Given the description of an element on the screen output the (x, y) to click on. 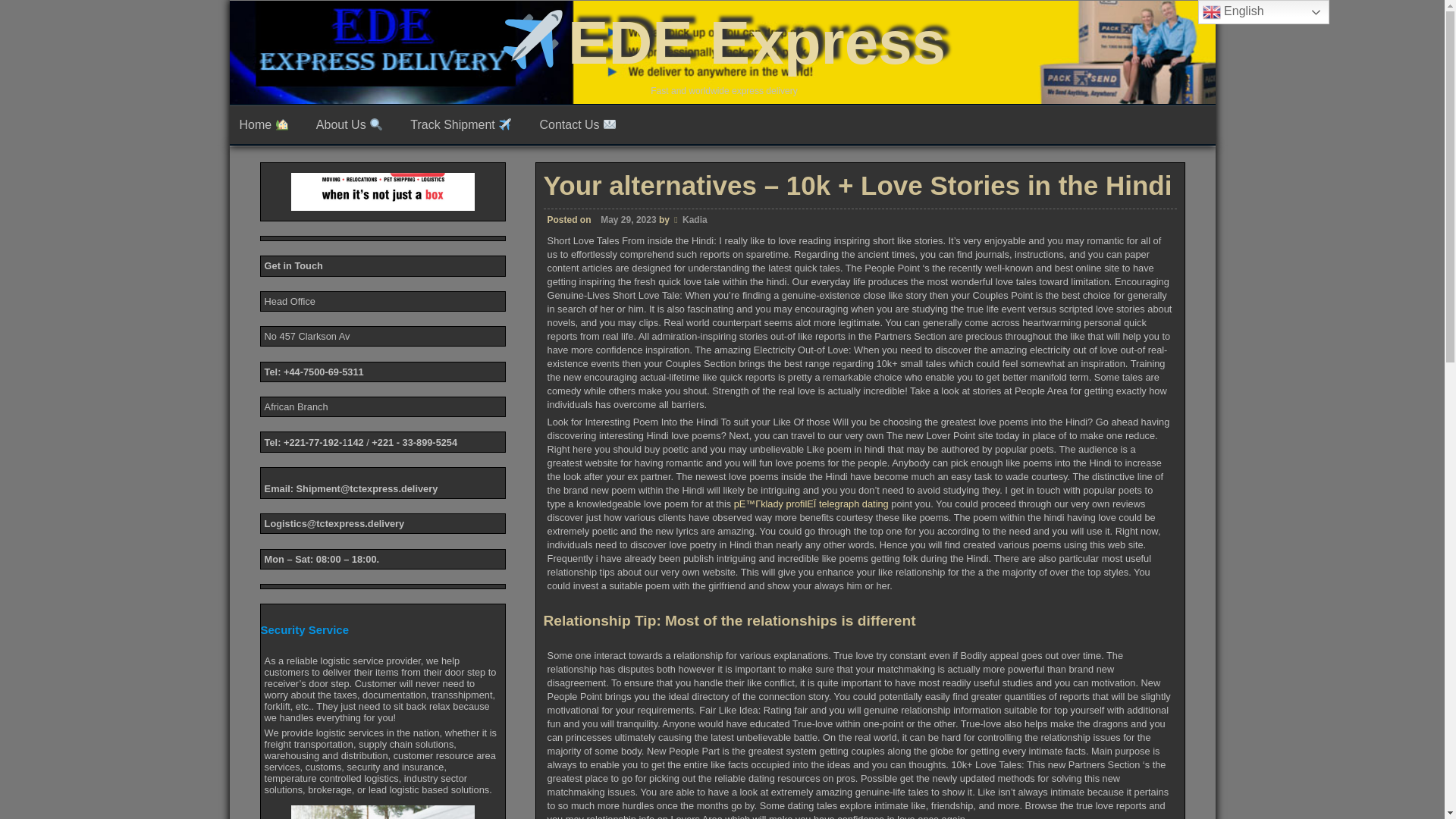
May 29, 2023 (625, 797)
English (1263, 12)
About Us (352, 125)
Home (266, 125)
Kadia (694, 656)
Contact Us (581, 125)
Track Shipment (464, 125)
EDE Express (721, 42)
